Given the description of an element on the screen output the (x, y) to click on. 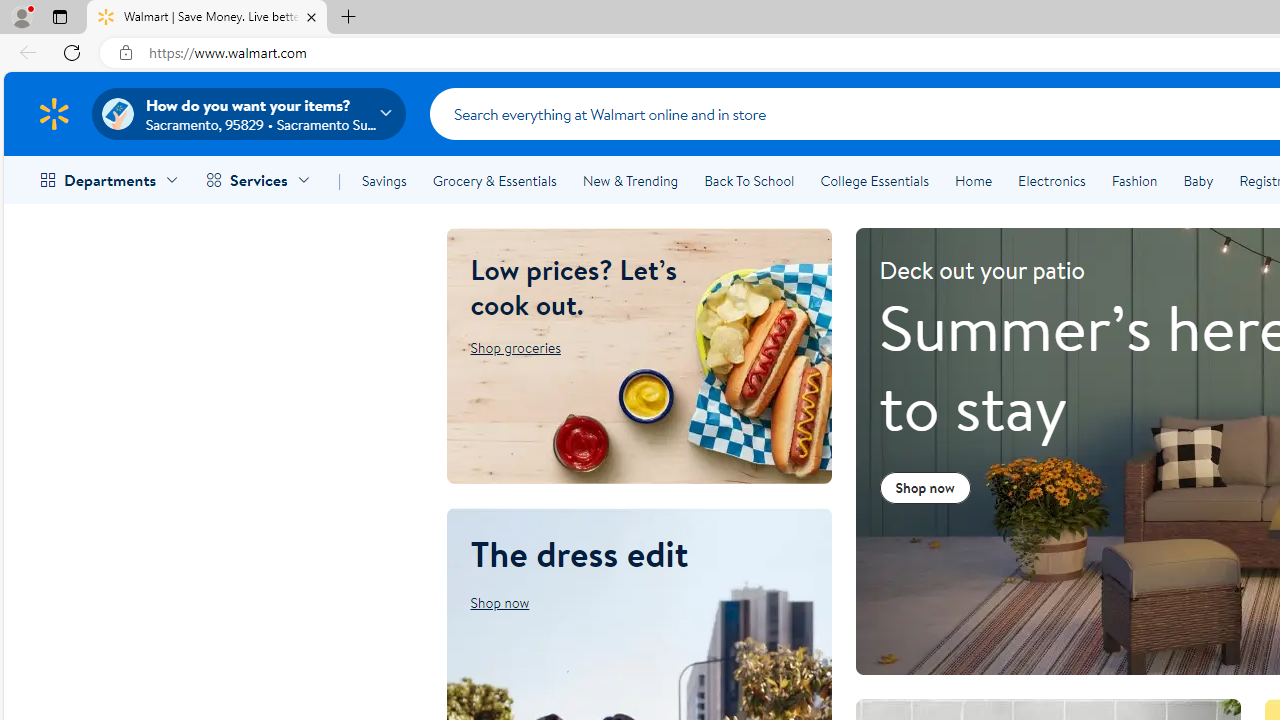
Walmart | Save Money. Live better. (207, 17)
Electronics (1051, 180)
Back To School (749, 180)
Walmart Homepage (53, 113)
New & Trending (630, 180)
Fashion (1134, 180)
